Given the description of an element on the screen output the (x, y) to click on. 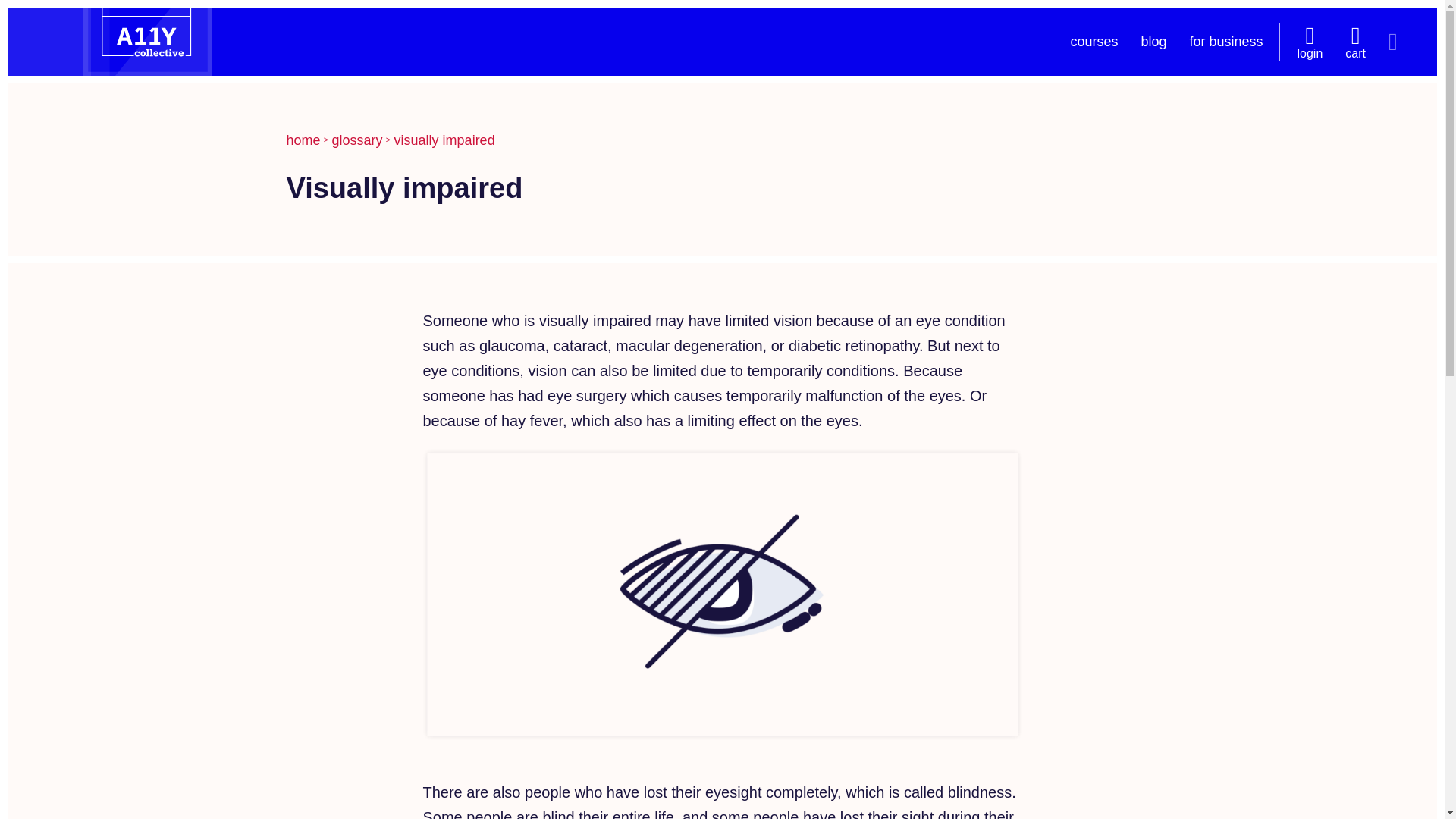
for business (1225, 41)
courses (1093, 41)
home (303, 139)
glossary (356, 139)
